Given the description of an element on the screen output the (x, y) to click on. 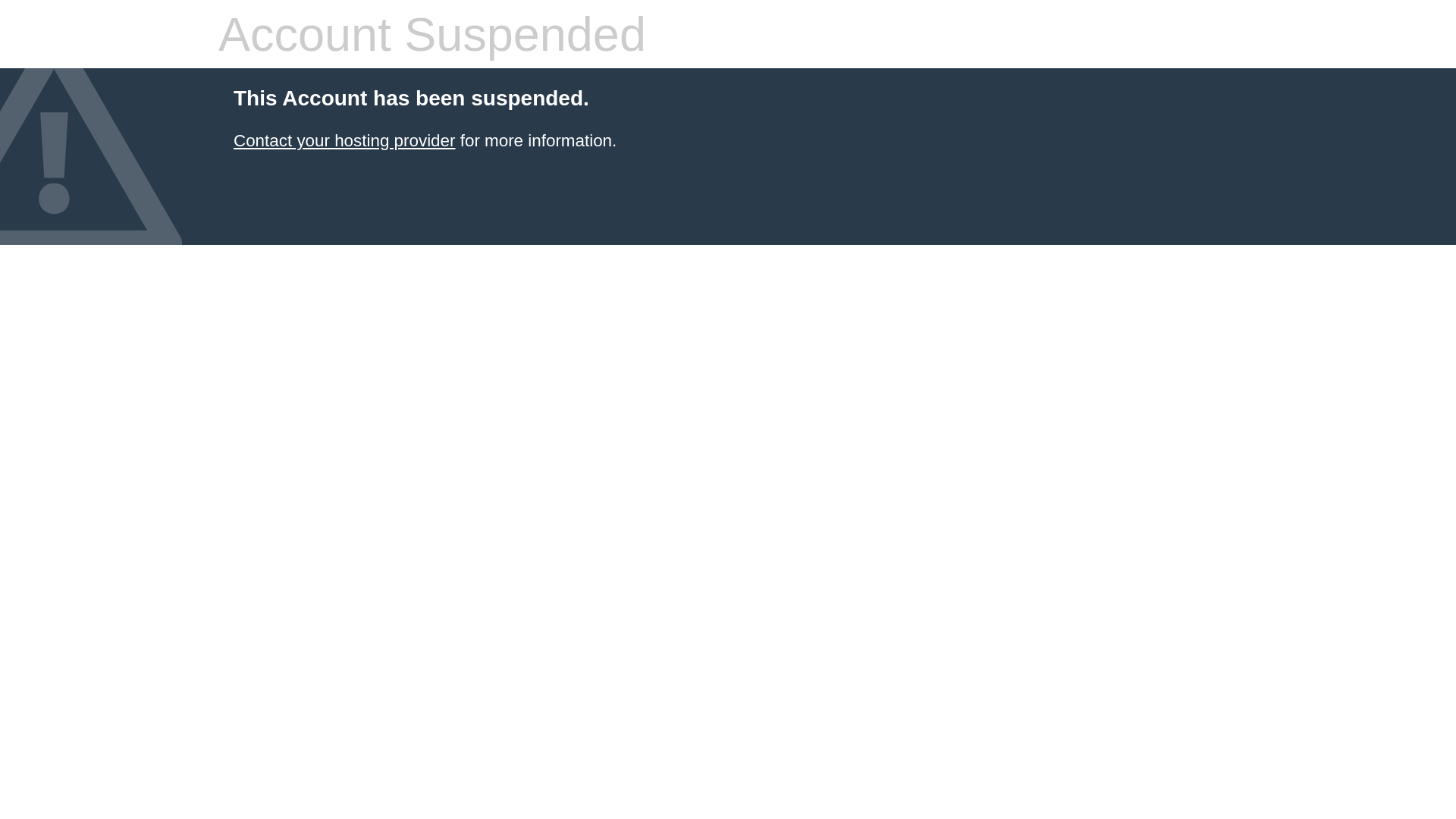
Contact your hosting provider Element type: text (344, 140)
